Given the description of an element on the screen output the (x, y) to click on. 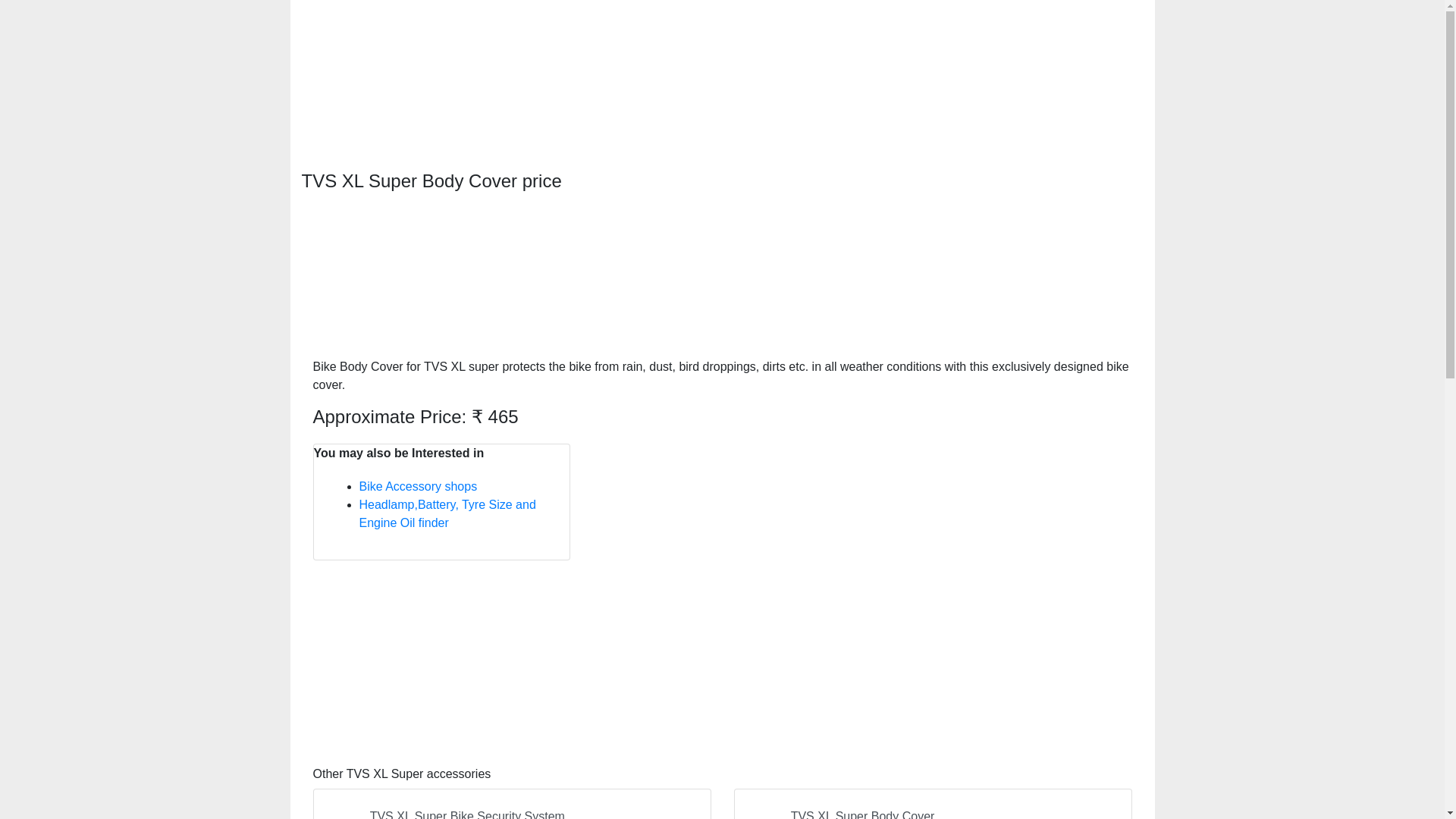
Bike Accessory shops (418, 486)
TVS XL Super Bike Security System (511, 803)
TVS XL Super Body Cover (932, 803)
Advertisement (721, 655)
Headlamp,Battery, Tyre Size and Engine Oil finder (447, 513)
